Given the description of an element on the screen output the (x, y) to click on. 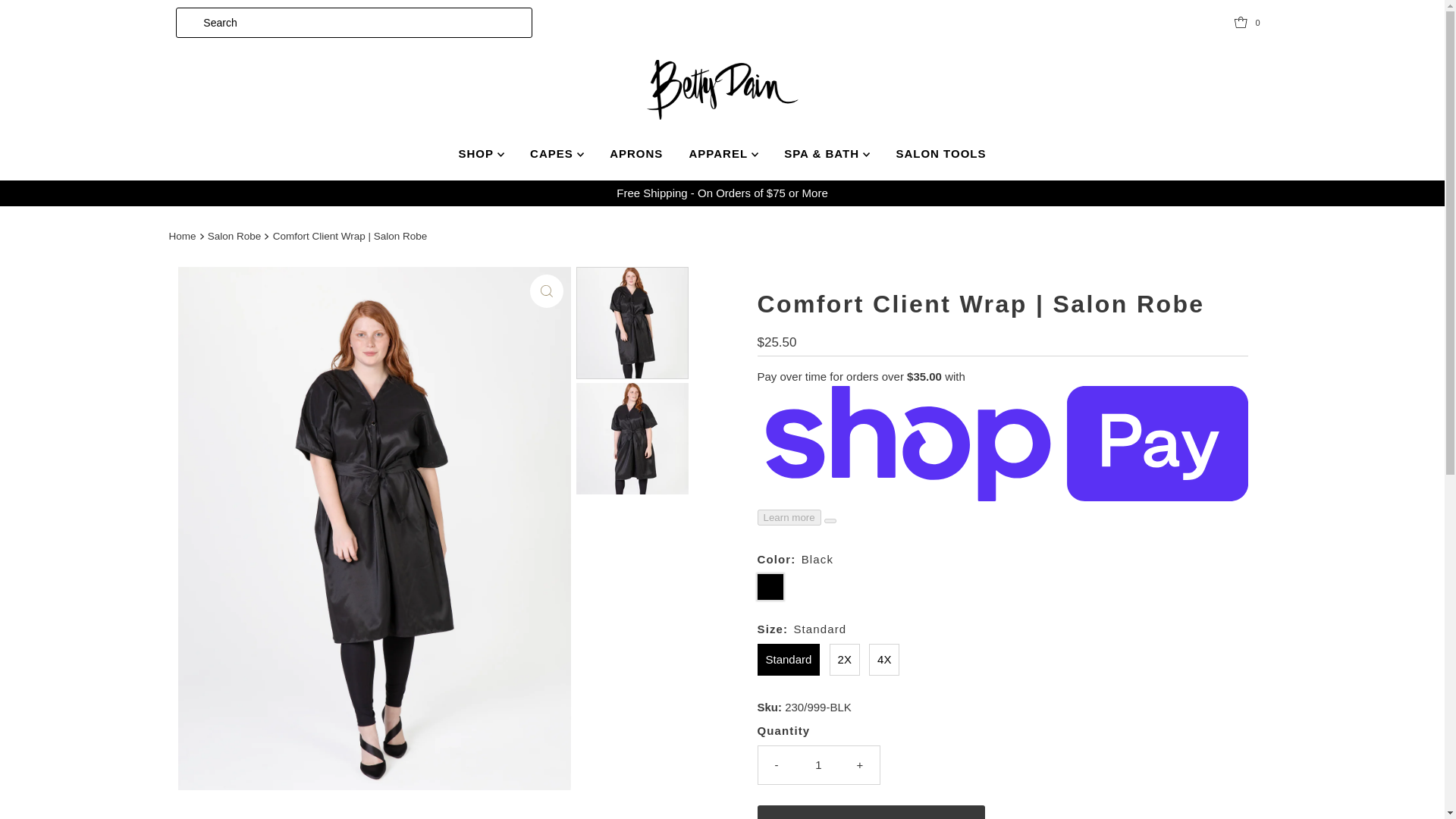
Back to the frontpage (183, 236)
0 (1249, 22)
APRONS (636, 153)
Search our store (353, 22)
Add to Cart (870, 812)
SALON TOOLS (940, 153)
Salon Robe (236, 235)
1 (818, 764)
